Given the description of an element on the screen output the (x, y) to click on. 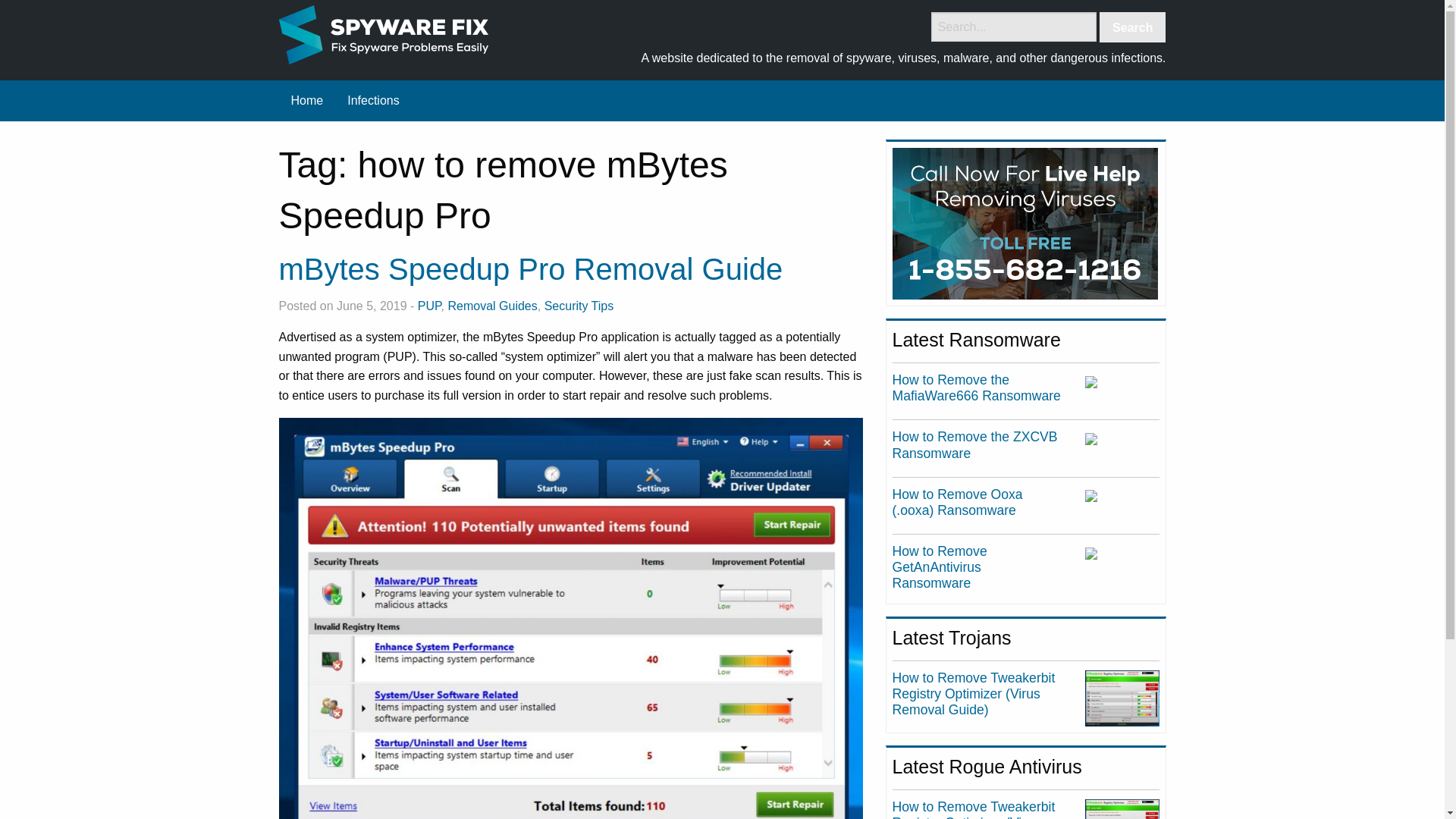
mBytes Speedup Pro Removal Guide (531, 268)
How to Remove GetAnAntivirus Ransomware (939, 566)
Search (1132, 27)
Search (1132, 27)
Removal Guides (491, 305)
Security Tips (579, 305)
Home (307, 100)
Search (1132, 27)
Infections (372, 100)
How to Remove the MafiaWare666 Ransomware (976, 387)
PUP (429, 305)
mBytes Speedup Pro Removal Guide (531, 268)
Search for: (1013, 26)
How to Remove the ZXCVB Ransomware (975, 444)
